Given the description of an element on the screen output the (x, y) to click on. 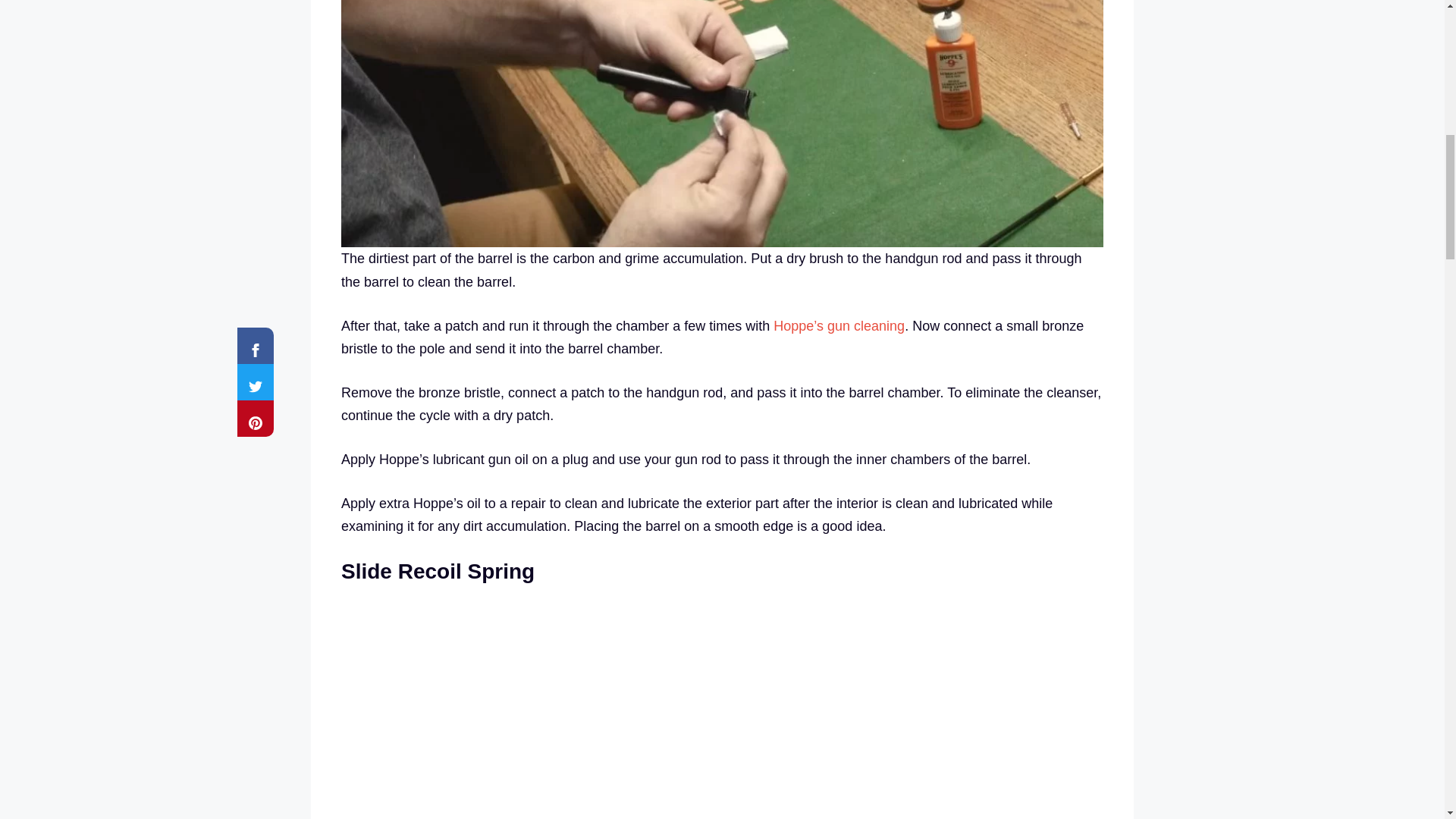
Scroll back to top (1406, 720)
